Given the description of an element on the screen output the (x, y) to click on. 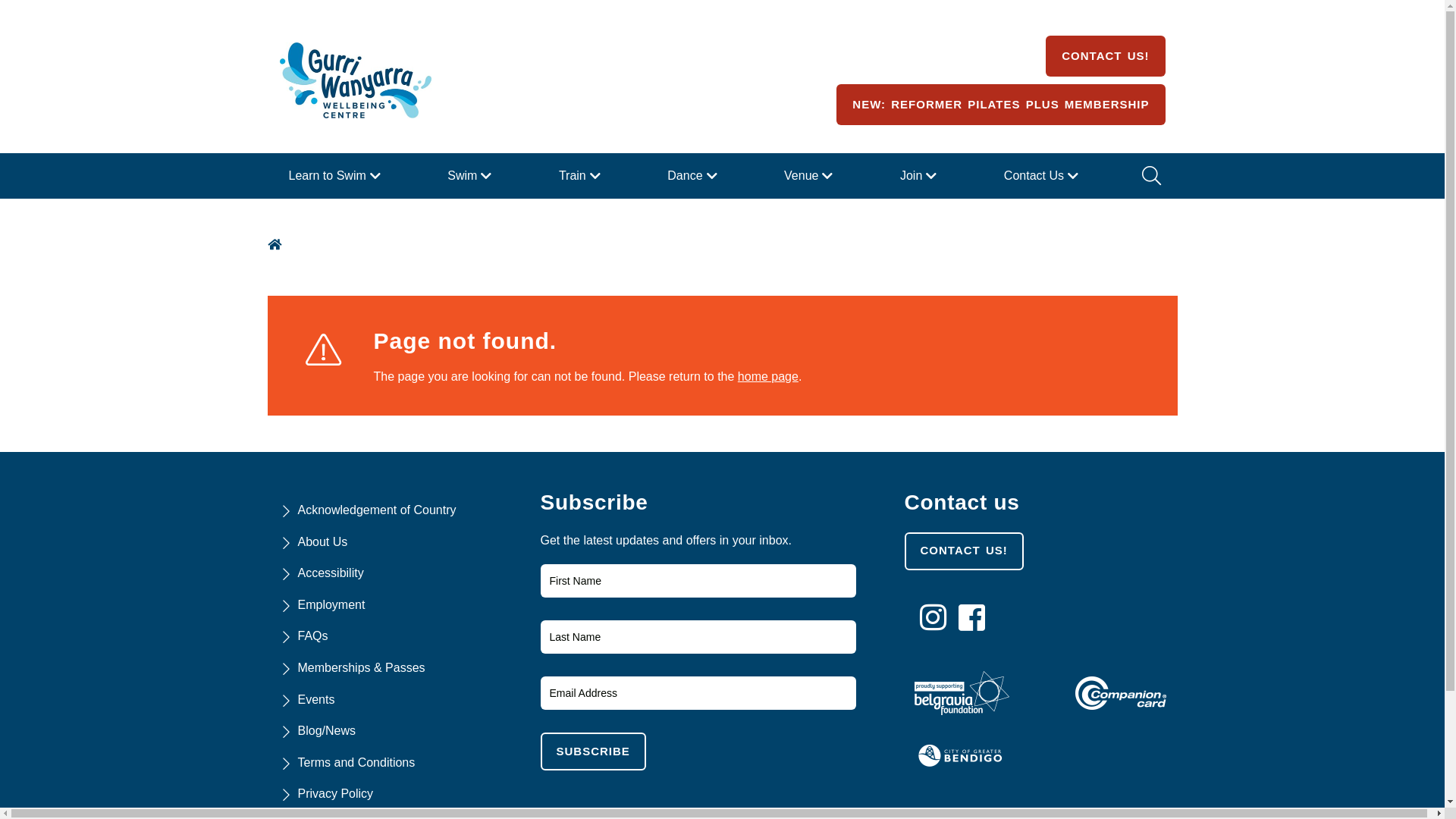
  Element type: text (975, 617)
NEW: REFORMER PILATES PLUS MEMBERSHIP Element type: text (1000, 104)
About Us Element type: text (322, 541)
Swim Element type: text (471, 175)
Events Element type: text (315, 699)
subscribe Element type: text (592, 751)
Accessibility Element type: text (330, 572)
CONTACT US! Element type: text (1104, 55)
Employment Element type: text (330, 604)
Contact Us Element type: text (1042, 175)
CONTACT US! Element type: text (962, 551)
Venue Element type: text (810, 175)
Search Element type: text (1150, 175)
  Element type: text (275, 244)
Memberships & Passes Element type: text (360, 667)
Blog/News Element type: text (325, 730)
Dance Element type: text (693, 175)
Terms and Conditions Element type: text (355, 762)
FAQs Element type: text (312, 635)
Genesys Messenger Launcher Element type: hover (1401, 770)
  Element type: text (936, 617)
Privacy Policy Element type: text (335, 793)
home page Element type: text (767, 376)
Train Element type: text (581, 175)
Join Element type: text (920, 175)
Learn to Swim Element type: text (335, 175)
Acknowledgement of Country Element type: text (376, 509)
